Given the description of an element on the screen output the (x, y) to click on. 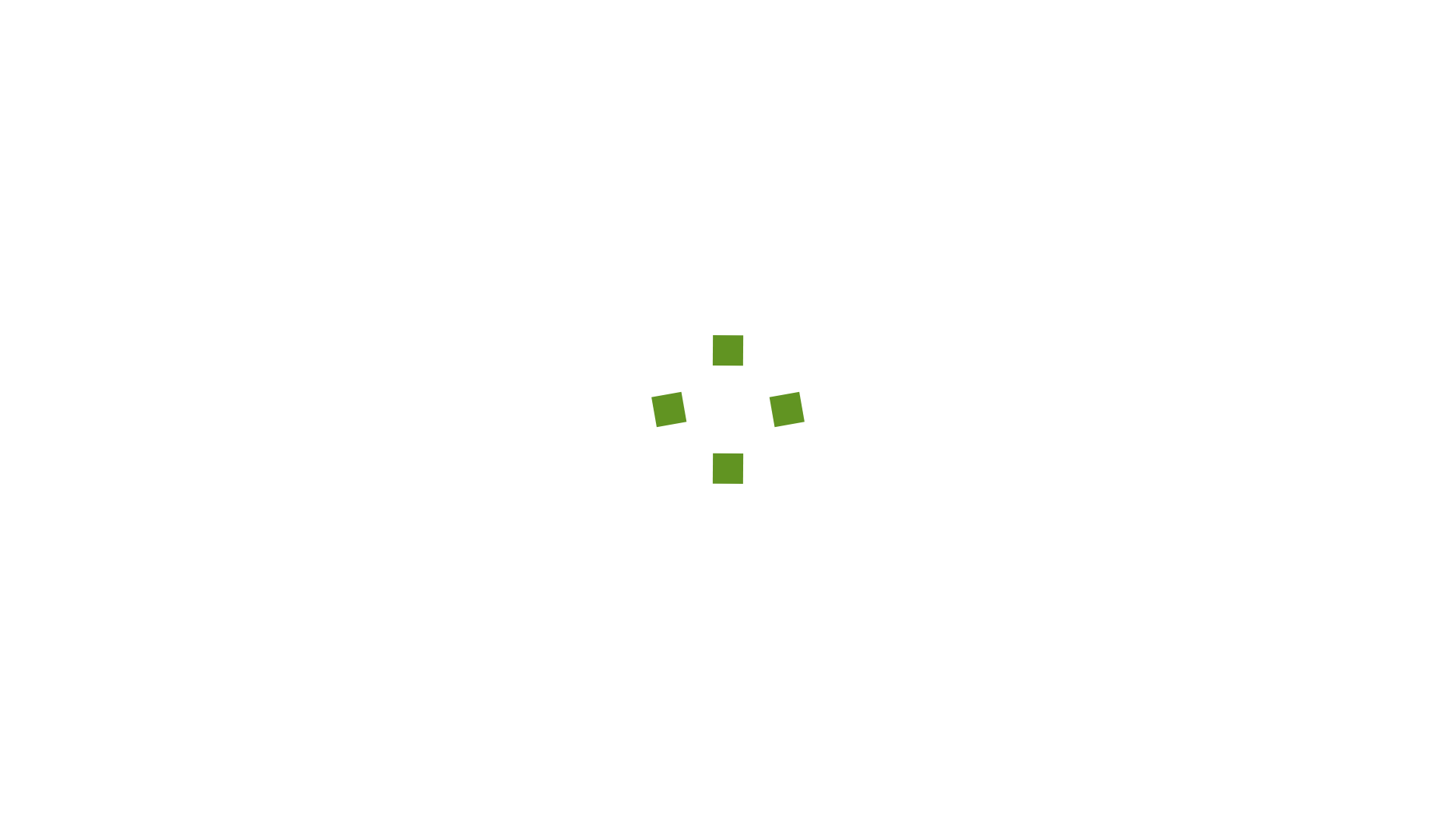
IR A INICIO Element type: text (727, 506)
